Given the description of an element on the screen output the (x, y) to click on. 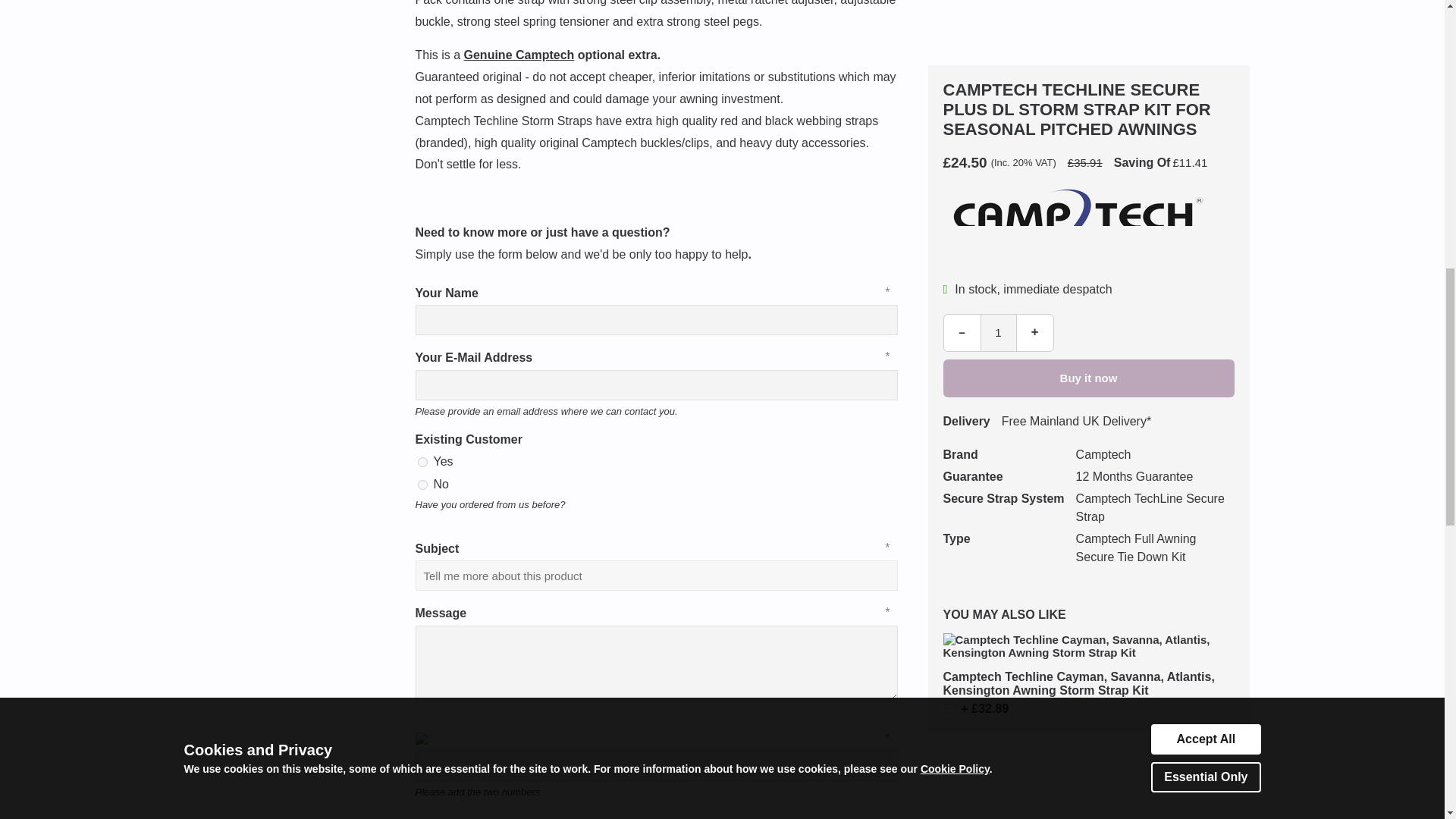
No (421, 484)
Buy it now (976, 35)
1 (949, 36)
Yes (421, 461)
